Given the description of an element on the screen output the (x, y) to click on. 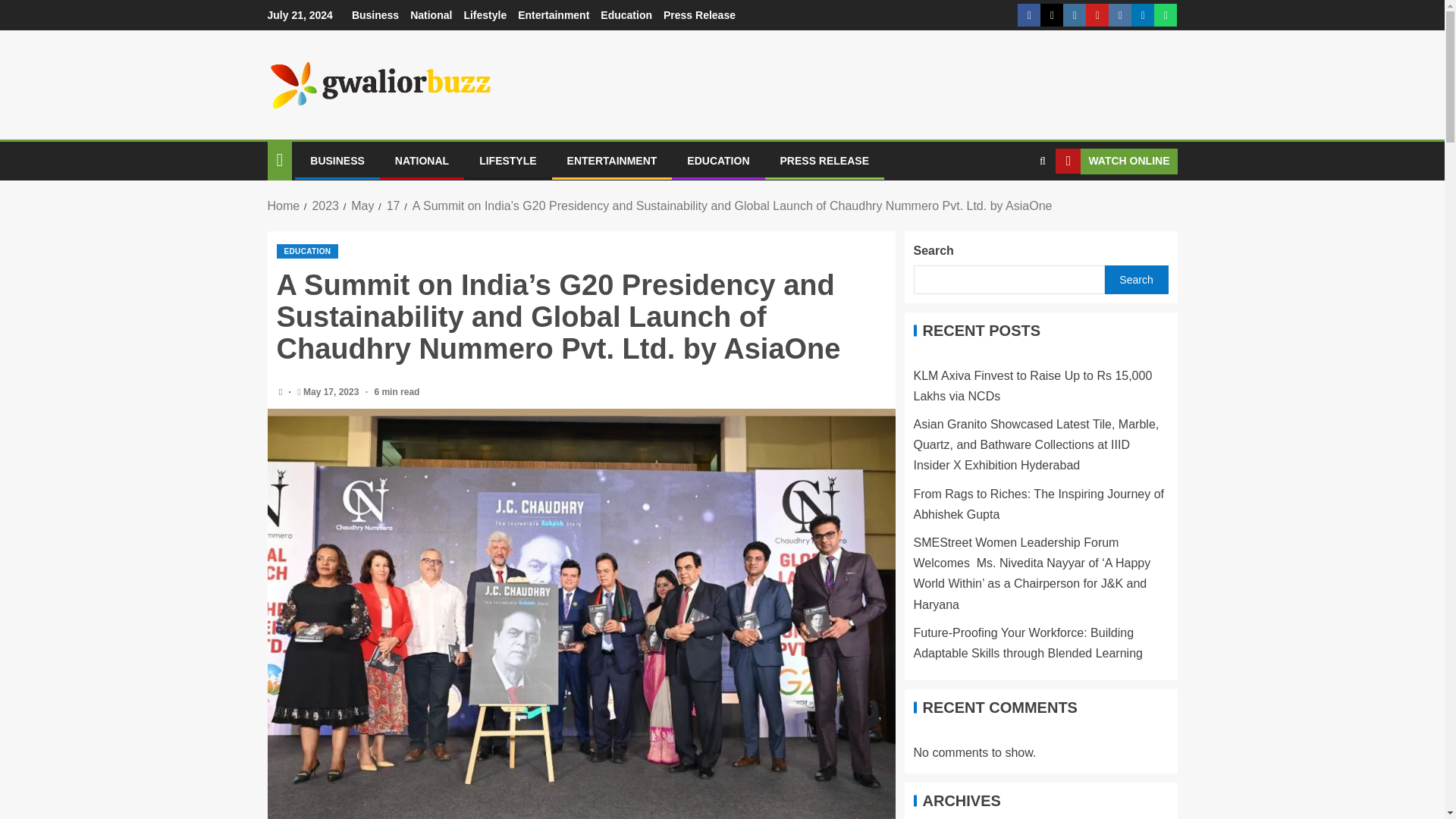
Search (1013, 207)
Lifestyle (484, 15)
2023 (325, 205)
EDUCATION (306, 251)
EDUCATION (718, 160)
WATCH ONLINE (1115, 161)
Press Release (699, 15)
17 (393, 205)
Education (625, 15)
ENTERTAINMENT (612, 160)
Home (282, 205)
PRESS RELEASE (824, 160)
National (430, 15)
Entertainment (553, 15)
